Given the description of an element on the screen output the (x, y) to click on. 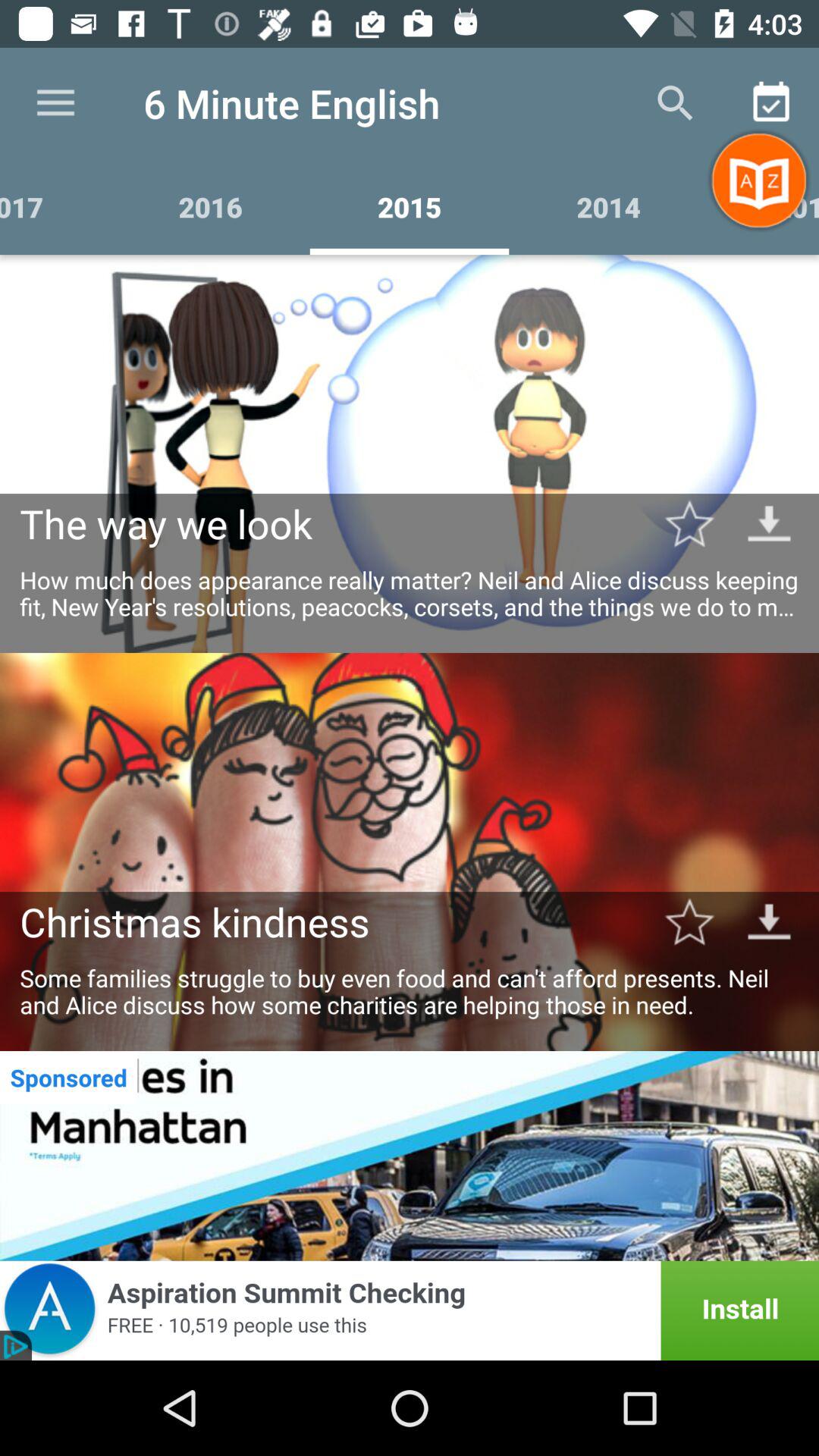
download that podcast (769, 921)
